Given the description of an element on the screen output the (x, y) to click on. 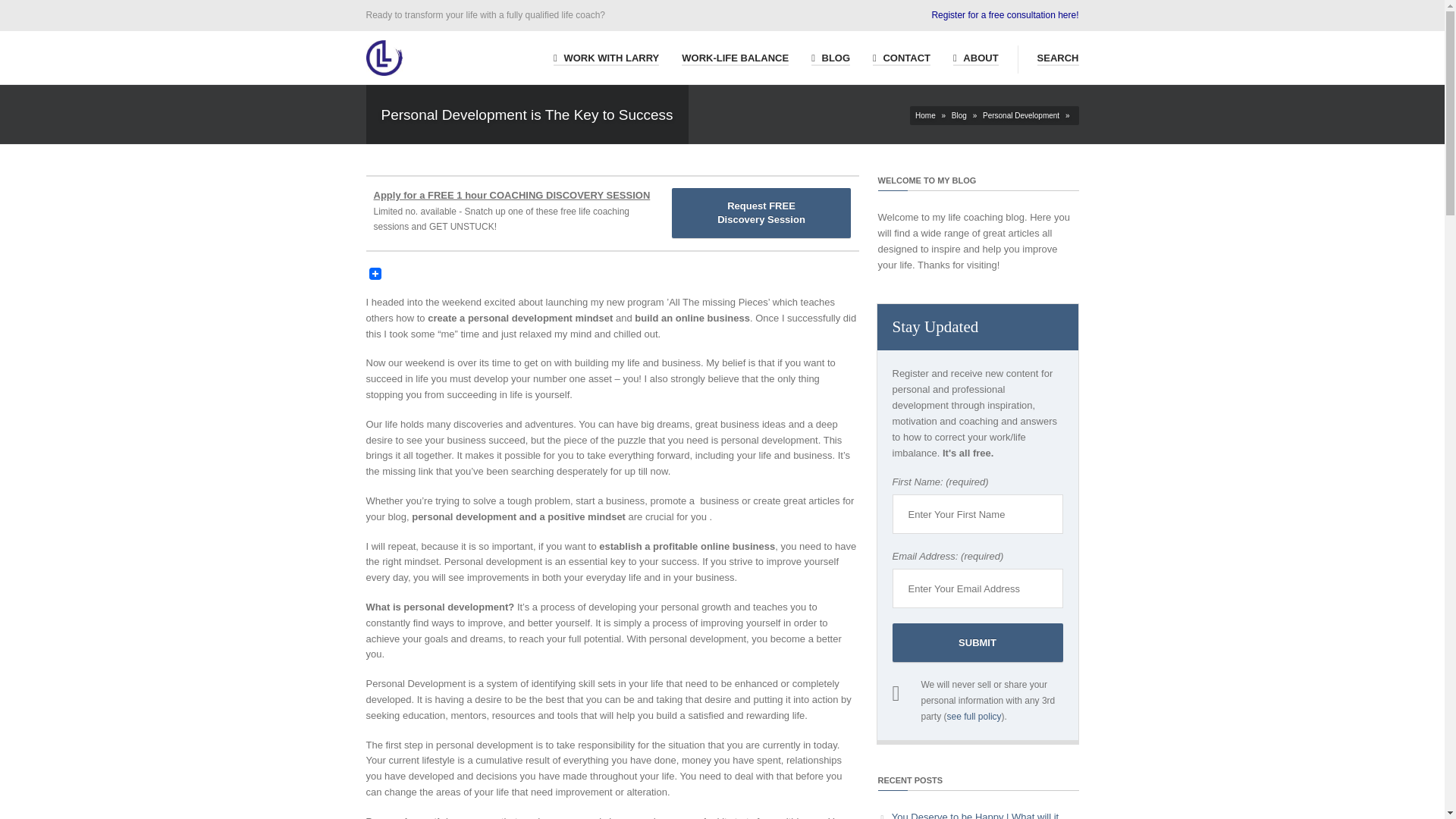
CONTACT (901, 55)
SUBMIT (976, 642)
Register for a free consultation here! (761, 213)
WORK-LIFE BALANCE (1004, 14)
ABOUT (735, 55)
Free Coaching Session (975, 55)
WORK WITH LARRY (1004, 14)
Blog (606, 55)
SEARCH (959, 115)
Home (1057, 55)
Personal Development (925, 115)
BLOG (1020, 115)
Personal Development (830, 55)
